Given the description of an element on the screen output the (x, y) to click on. 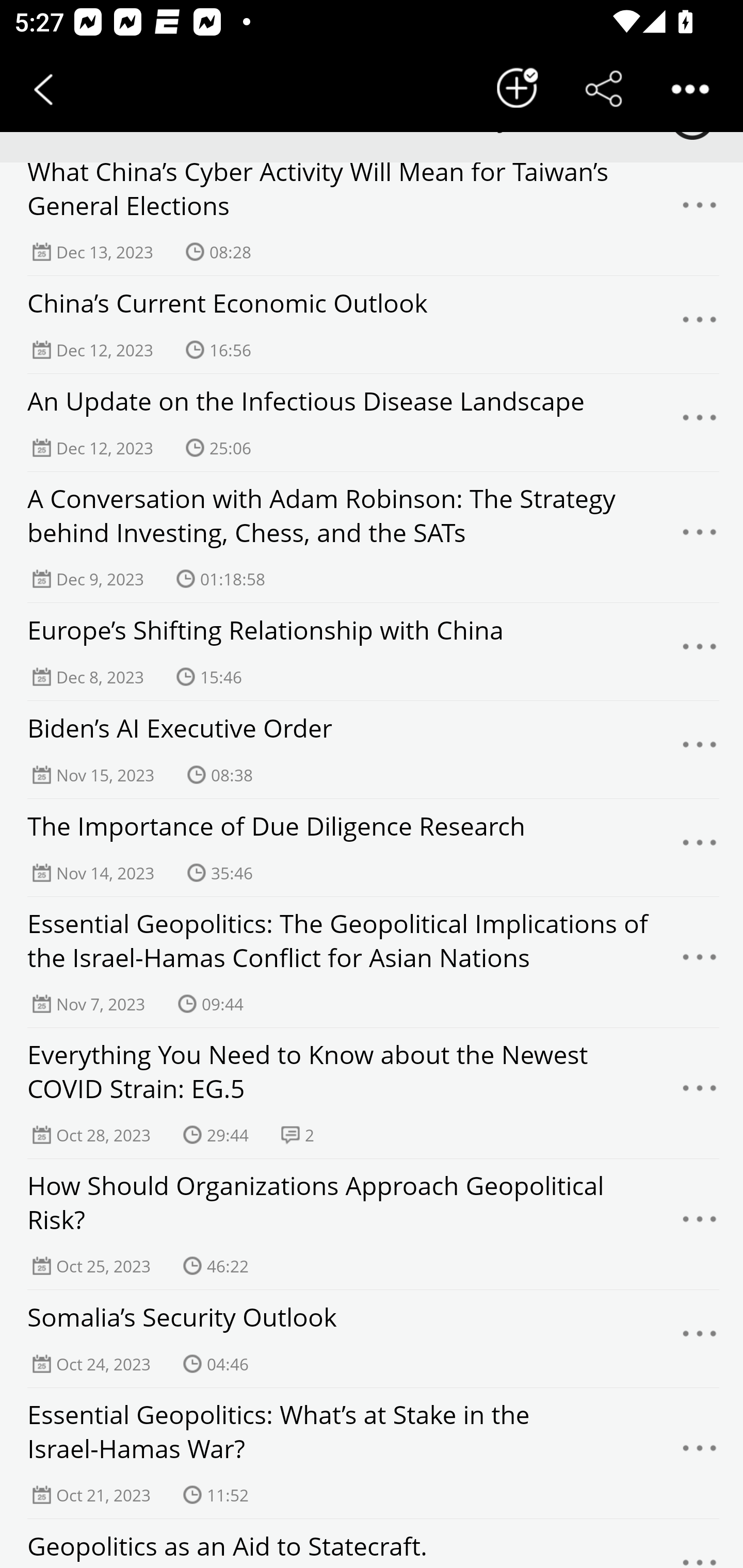
Back (43, 88)
Menu (699, 210)
Menu (699, 325)
Menu (699, 422)
Menu (699, 536)
Menu (699, 651)
Biden’s AI Executive Order Nov 15, 2023 08:38 Menu (371, 749)
Menu (699, 750)
Menu (699, 847)
Menu (699, 961)
Menu (699, 1093)
Menu (699, 1224)
Somalia’s Security Outlook Oct 24, 2023 04:46 Menu (371, 1338)
Menu (699, 1338)
Menu (699, 1453)
Geopolitics as an Aid to Statecraft. Menu (371, 1543)
Menu (699, 1546)
